Given the description of an element on the screen output the (x, y) to click on. 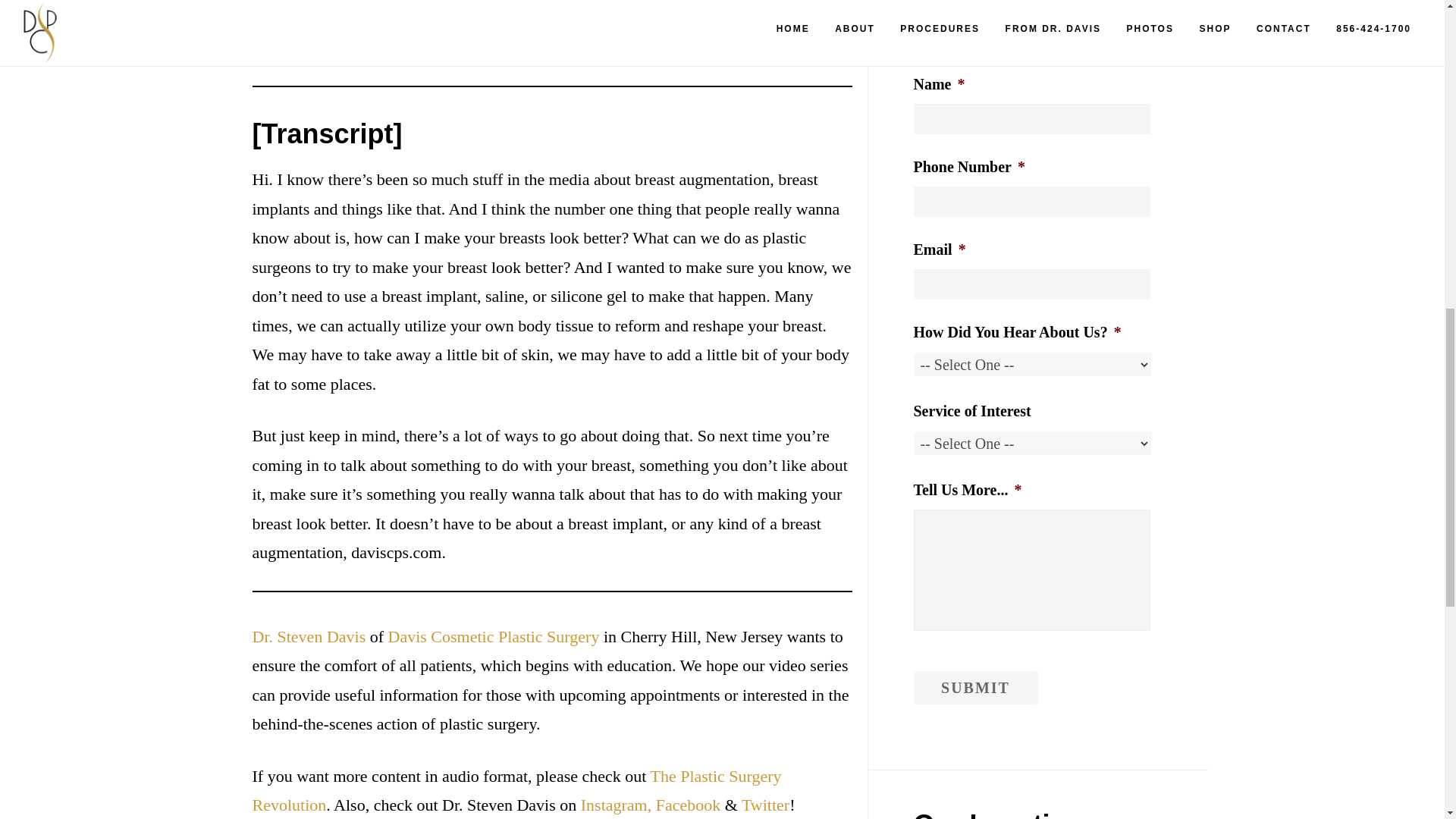
Submit (974, 687)
